Given the description of an element on the screen output the (x, y) to click on. 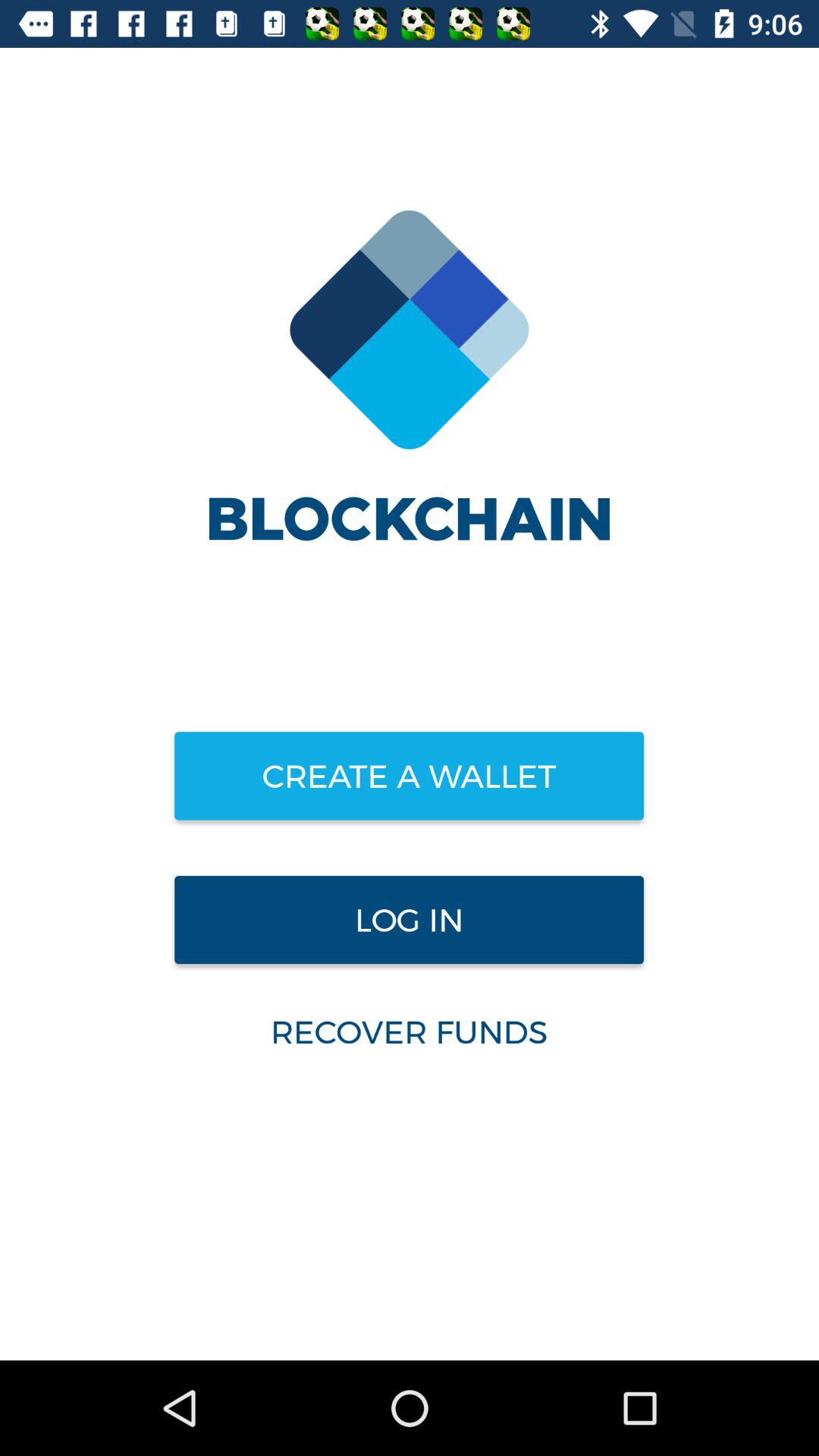
tap item above the log in icon (408, 776)
